Given the description of an element on the screen output the (x, y) to click on. 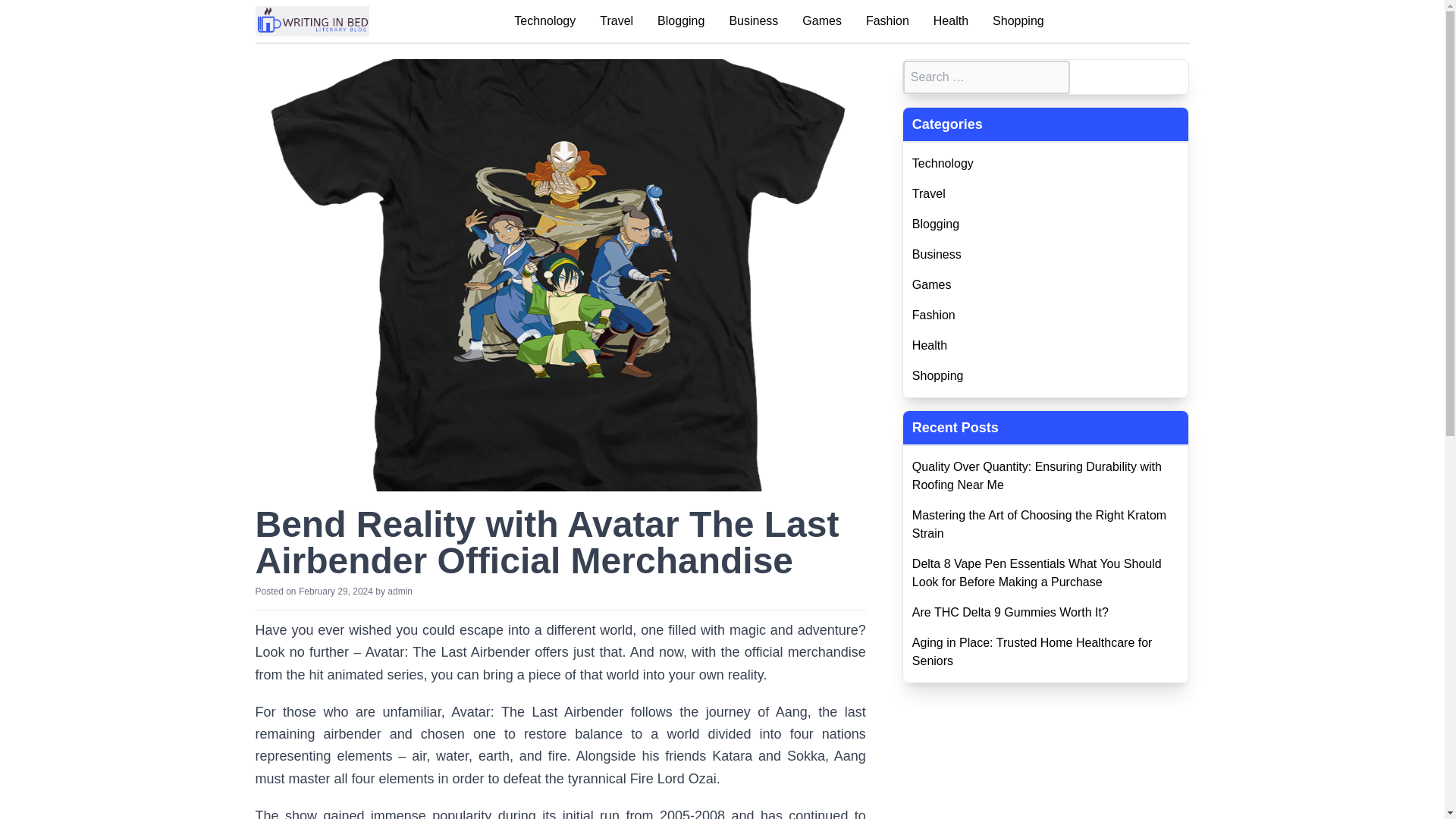
Fashion (1045, 315)
Business (1045, 254)
Health (1045, 345)
Games (1045, 285)
Technology (544, 20)
Shopping (1045, 375)
admin (399, 591)
Skip to the content (263, 21)
Travel (616, 20)
Health (950, 20)
Shopping (1017, 20)
Blogging (1045, 224)
Fashion (887, 20)
Technology (1045, 163)
